Given the description of an element on the screen output the (x, y) to click on. 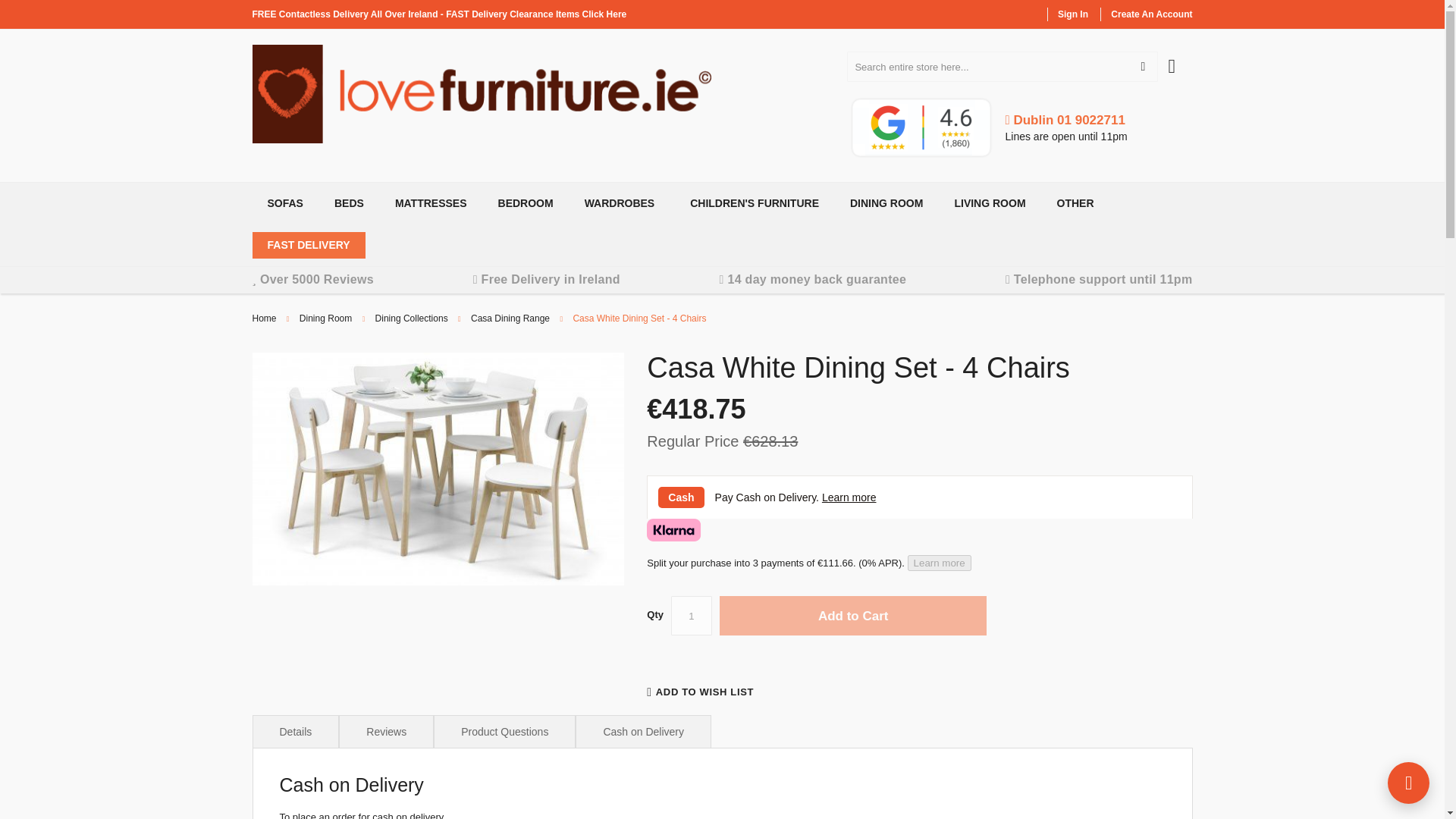
1 (691, 615)
MY CART (1179, 57)
CHILDREN'S FURNITURE (752, 203)
Search (1141, 66)
Dining Room (325, 317)
Create An Account (1151, 14)
SOFAS (282, 203)
Qty (691, 615)
Dublin 01 9022711 (1065, 120)
Casa Dining Range (510, 317)
